Given the description of an element on the screen output the (x, y) to click on. 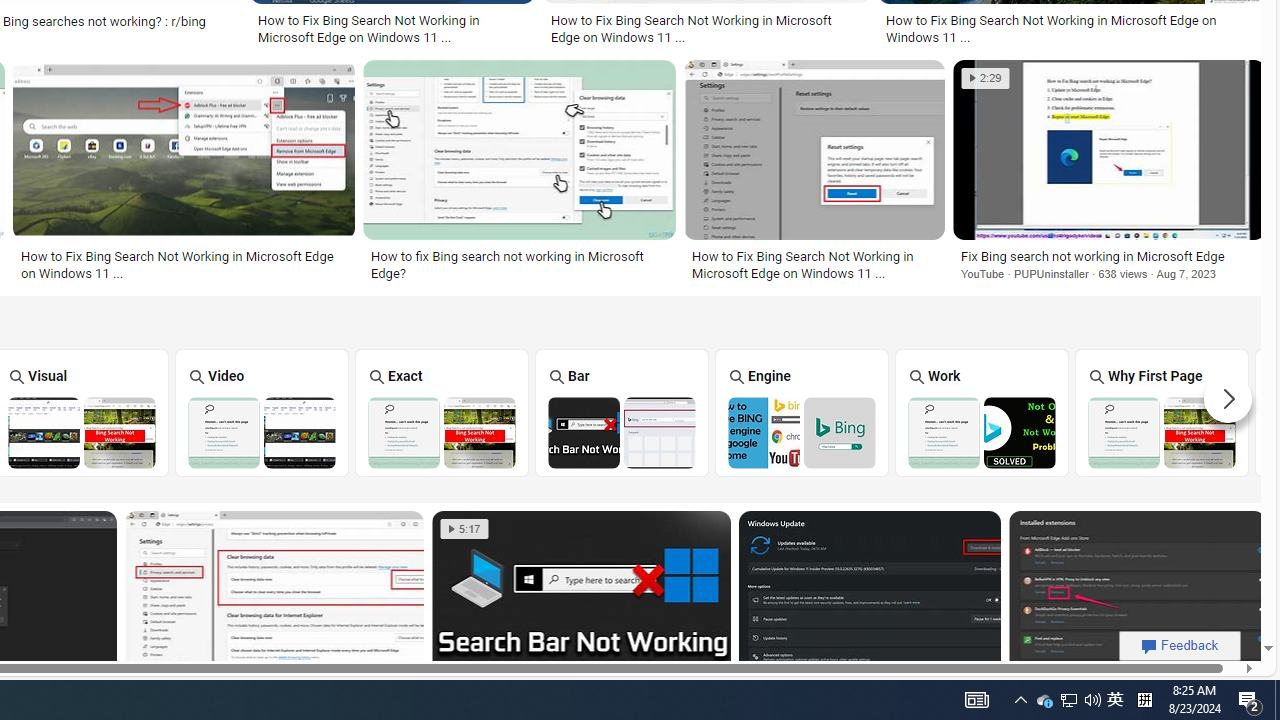
Bing Visual Search Not Working (81, 432)
Bing Work Search Not Working (981, 432)
Scroll more suggestions right (1227, 398)
Bing searches not working? : r/bing (104, 21)
Image result for Bing Search Not Working (1136, 600)
Bar (621, 412)
